Given the description of an element on the screen output the (x, y) to click on. 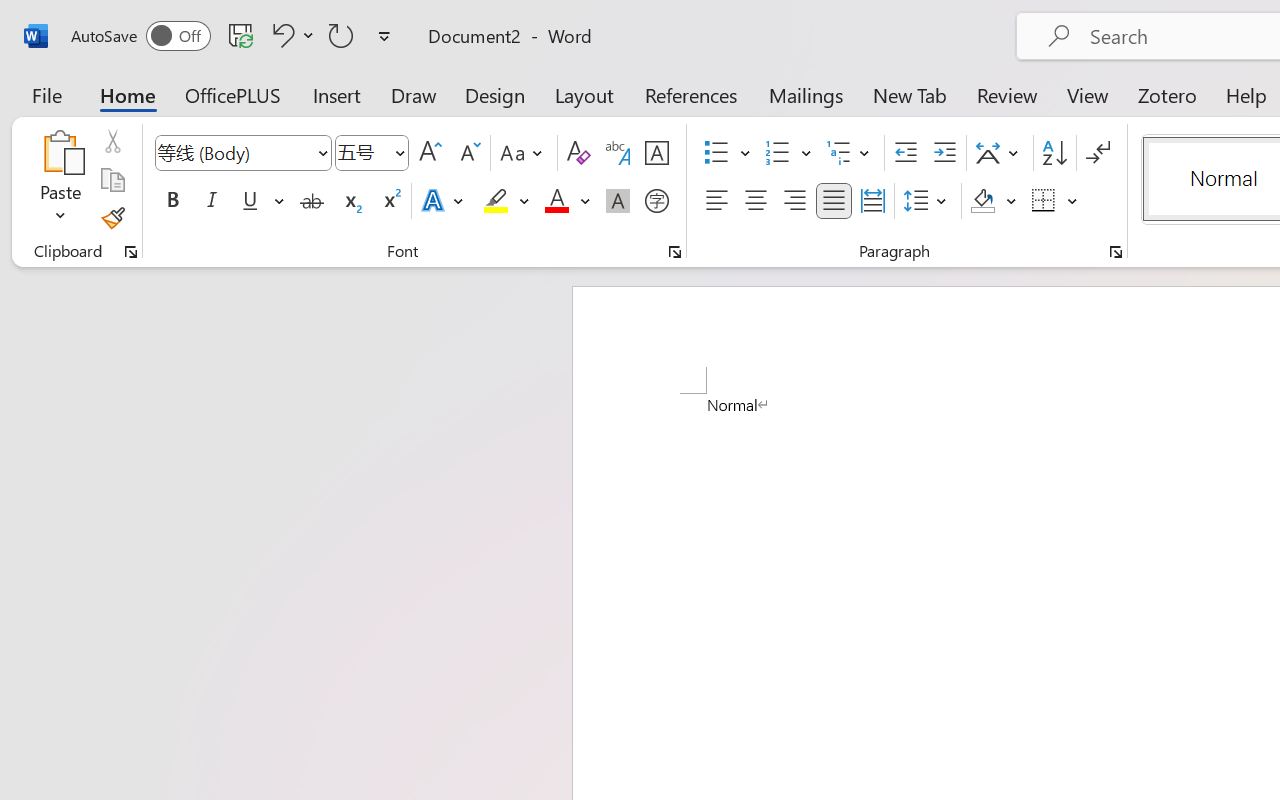
Undo Apply Quick Style (280, 35)
Distributed (872, 201)
Shading RGB(0, 0, 0) (982, 201)
Paste (60, 151)
Grow Font (430, 153)
Font... (675, 252)
Review (1007, 94)
Open (399, 152)
Draw (413, 94)
Quick Access Toolbar (233, 36)
Underline (261, 201)
Align Right (794, 201)
Home (127, 94)
References (690, 94)
Text Highlight Color (506, 201)
